Given the description of an element on the screen output the (x, y) to click on. 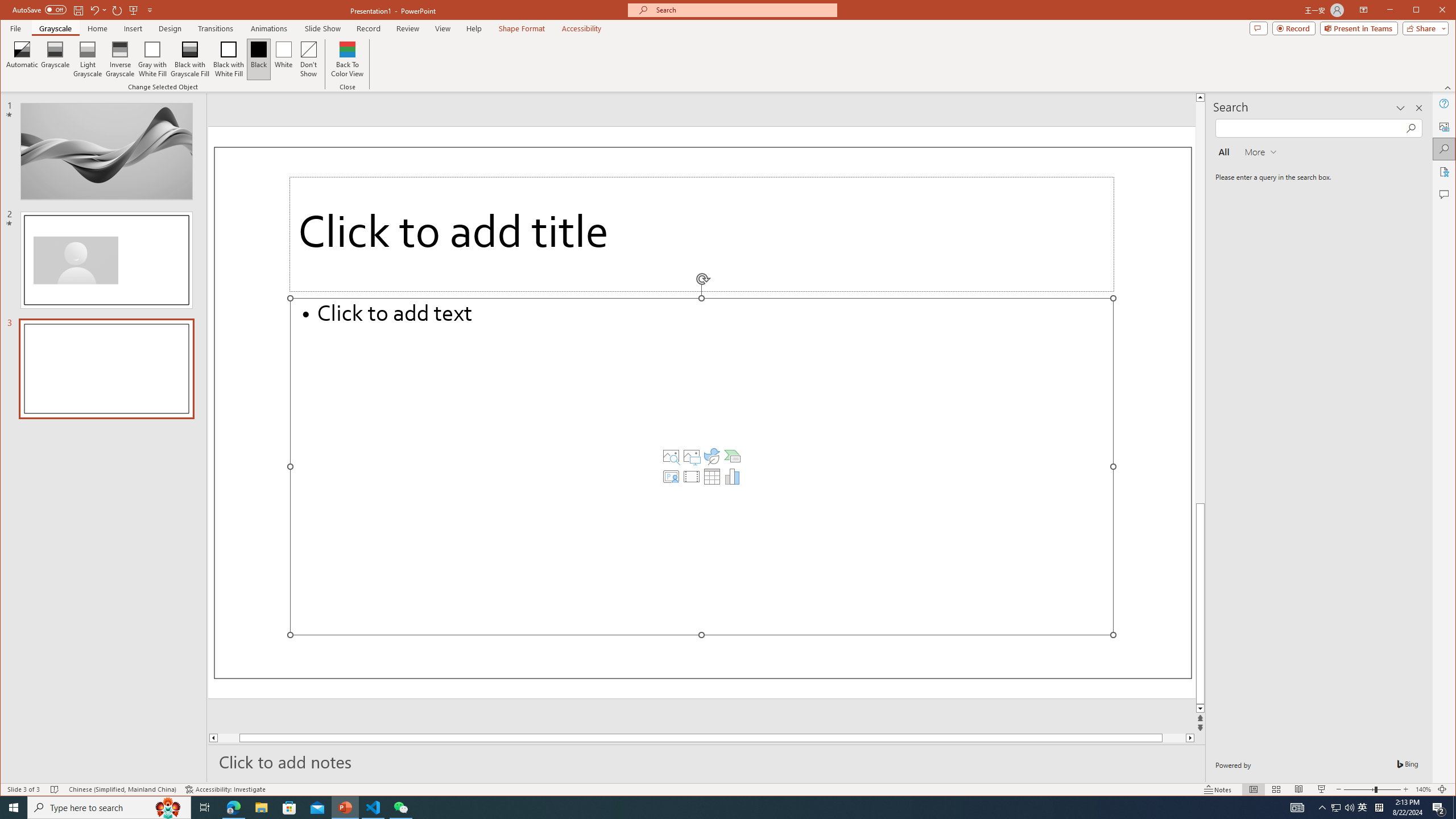
Insert an Icon (711, 456)
